Given the description of an element on the screen output the (x, y) to click on. 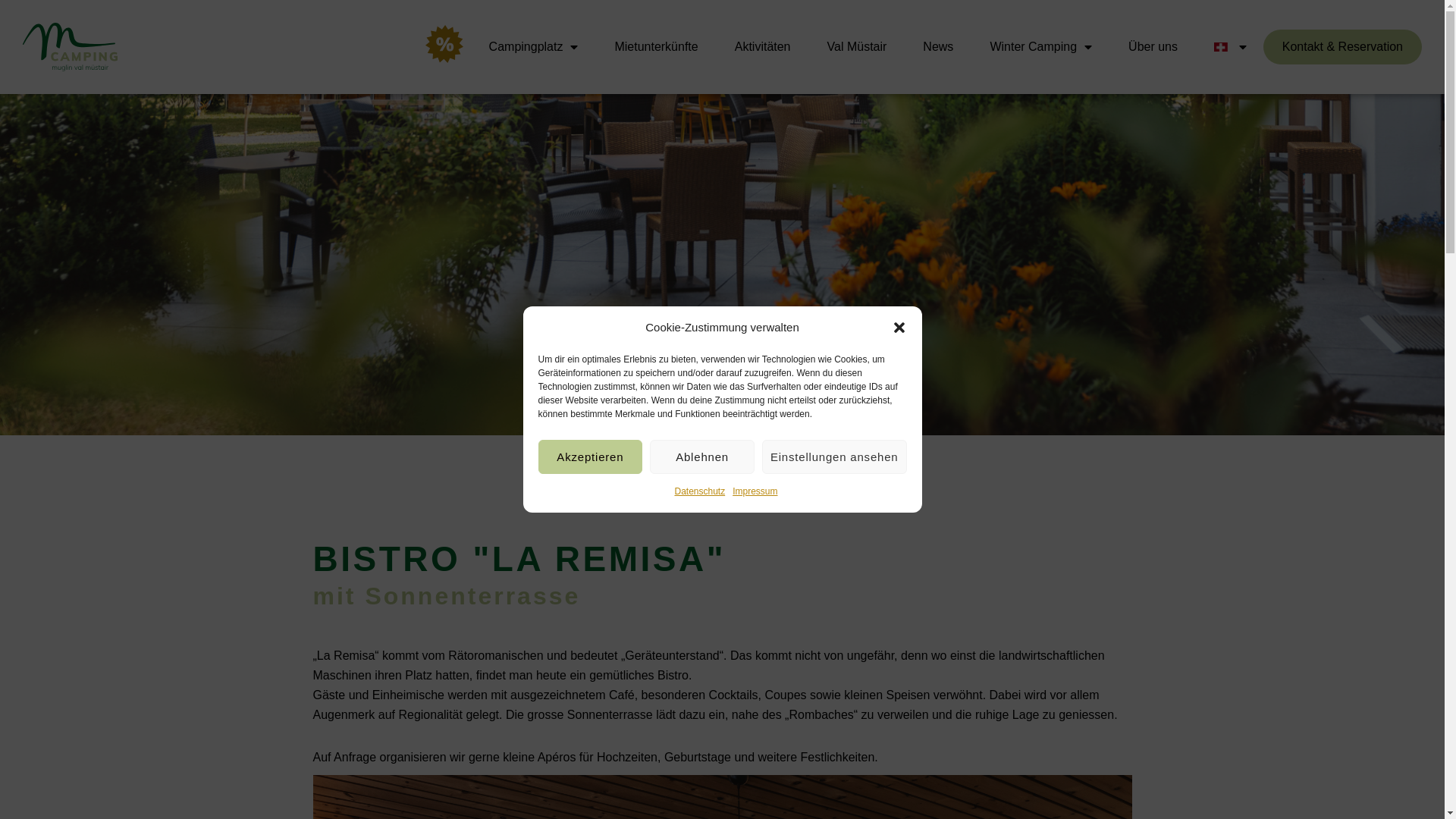
Akzeptieren Element type: text (590, 456)
Kontakt & Reservation Element type: text (1342, 46)
Impressum Element type: text (754, 491)
Zum Inhalt springen Element type: text (11, 31)
Datenschutz Element type: text (699, 491)
Winter Camping Element type: text (1040, 46)
Ablehnen Element type: text (701, 456)
Campingplatz Element type: text (533, 46)
Einstellungen ansehen Element type: text (834, 456)
News Element type: text (937, 46)
